Given the description of an element on the screen output the (x, y) to click on. 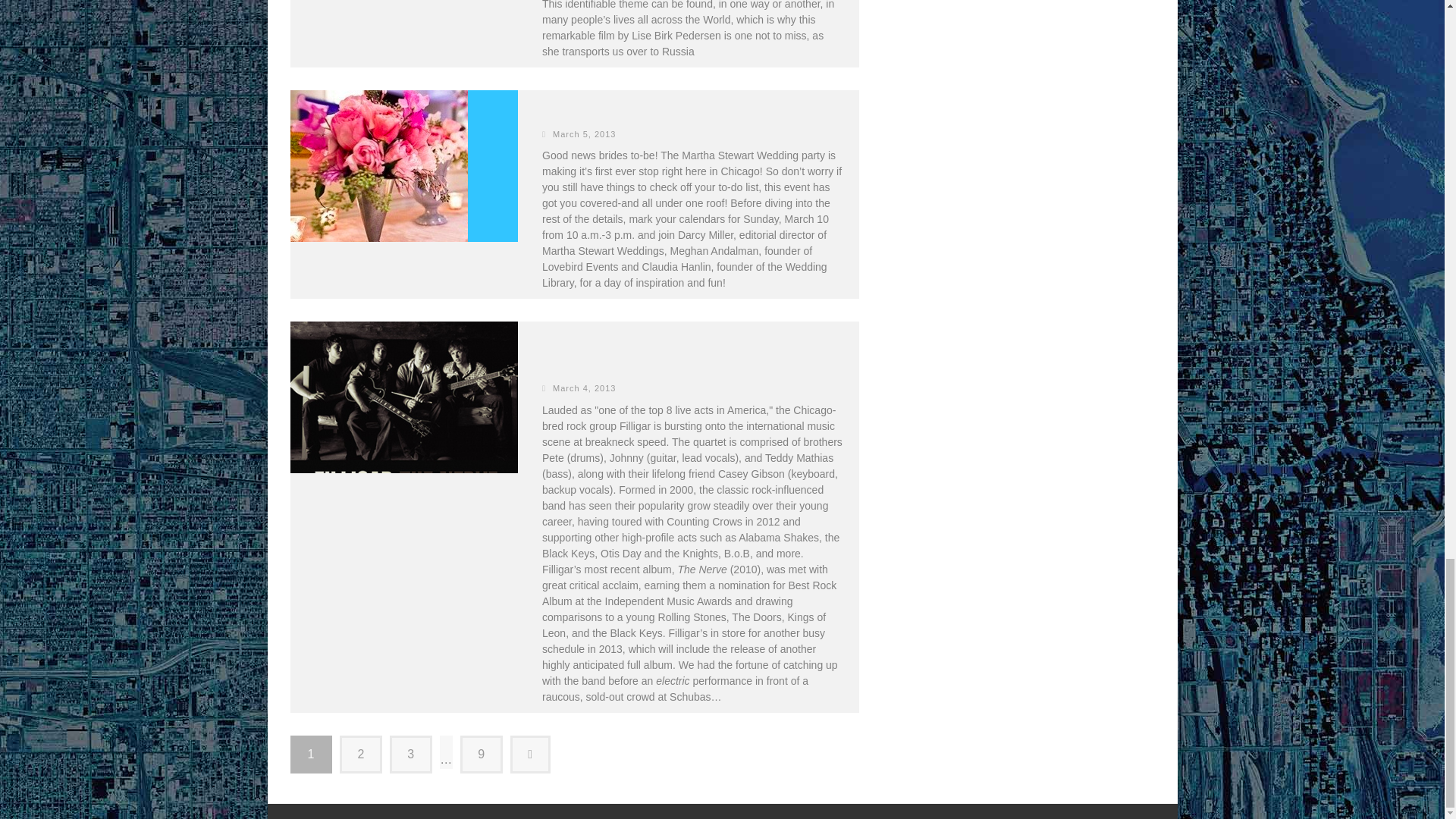
3 (411, 754)
9 (481, 754)
2 (360, 754)
